Given the description of an element on the screen output the (x, y) to click on. 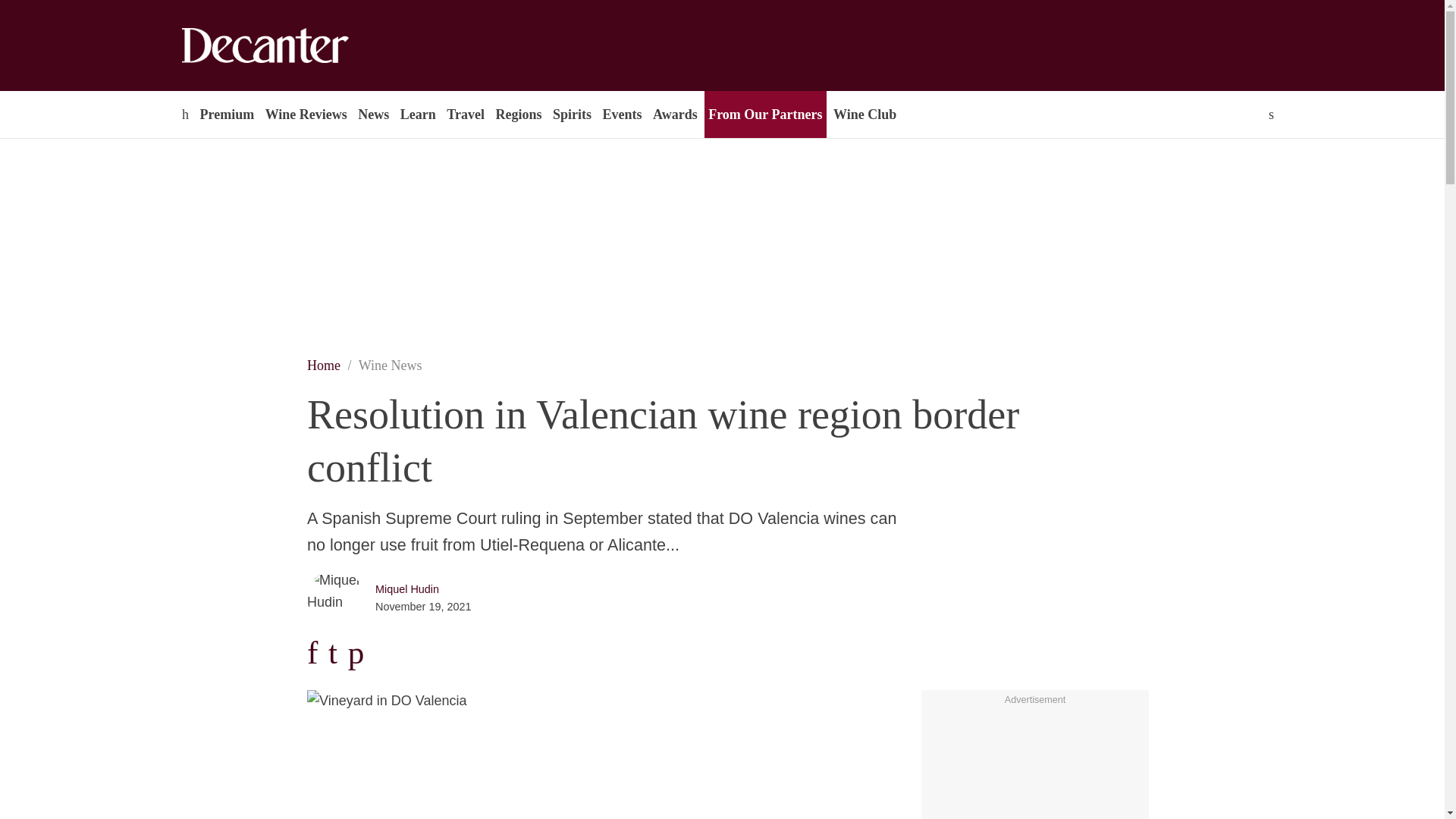
Decanter (297, 45)
Learn (417, 114)
Wine Reviews (306, 114)
Travel (464, 114)
Awards (675, 114)
Premium (226, 114)
